Given the description of an element on the screen output the (x, y) to click on. 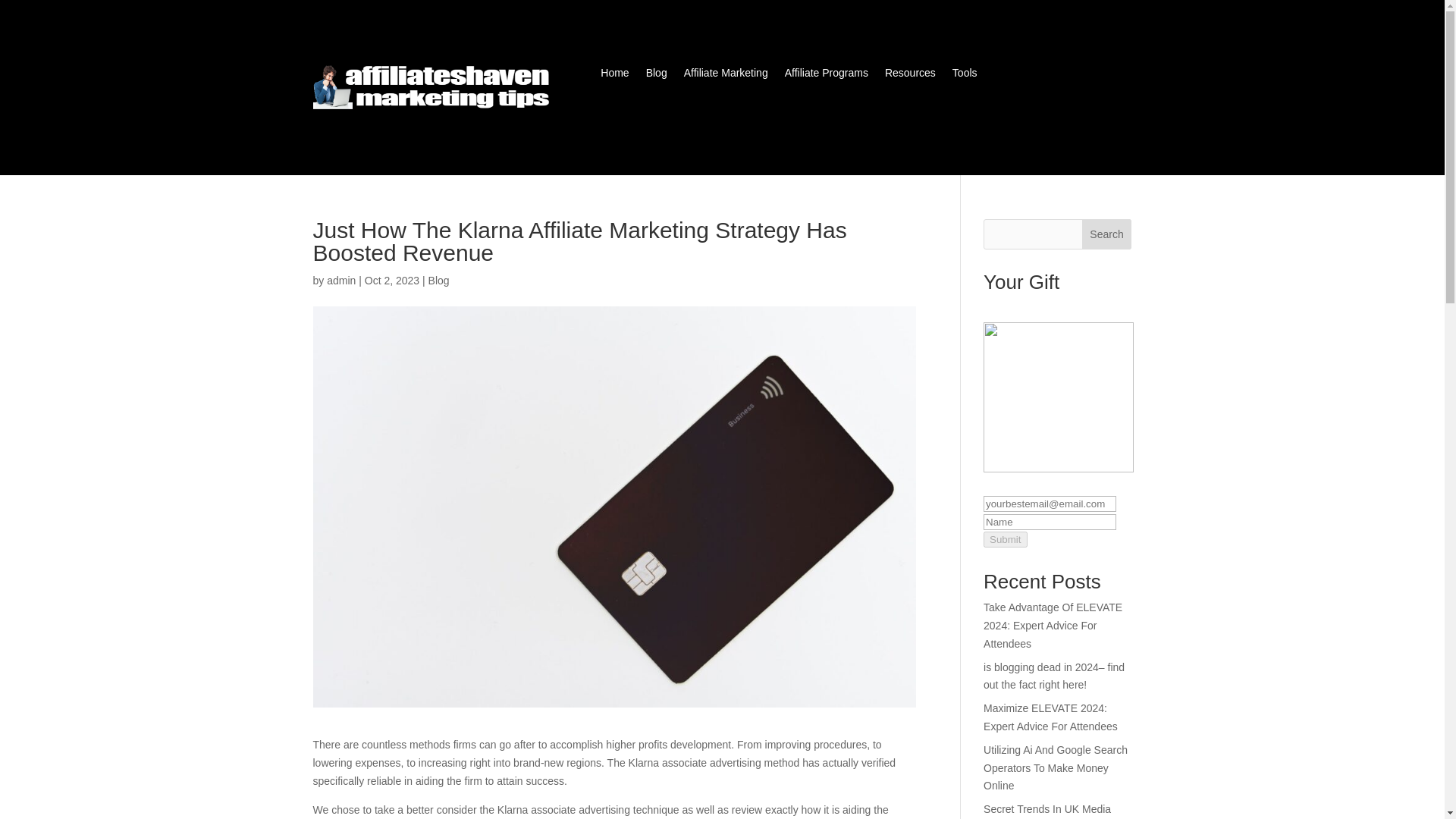
Maximize ELEVATE 2024: Expert Advice For Attendees (1051, 716)
Tools (964, 75)
Affiliate Marketing (726, 75)
admin (340, 280)
Blog (438, 280)
Blog (656, 75)
Affiliate Programs (825, 75)
logo9 (433, 87)
Posts by admin (340, 280)
Search (1106, 234)
Submit (1005, 539)
Resources (910, 75)
Take Advantage Of ELEVATE 2024: Expert Advice For Attendees (1053, 625)
